Given the description of an element on the screen output the (x, y) to click on. 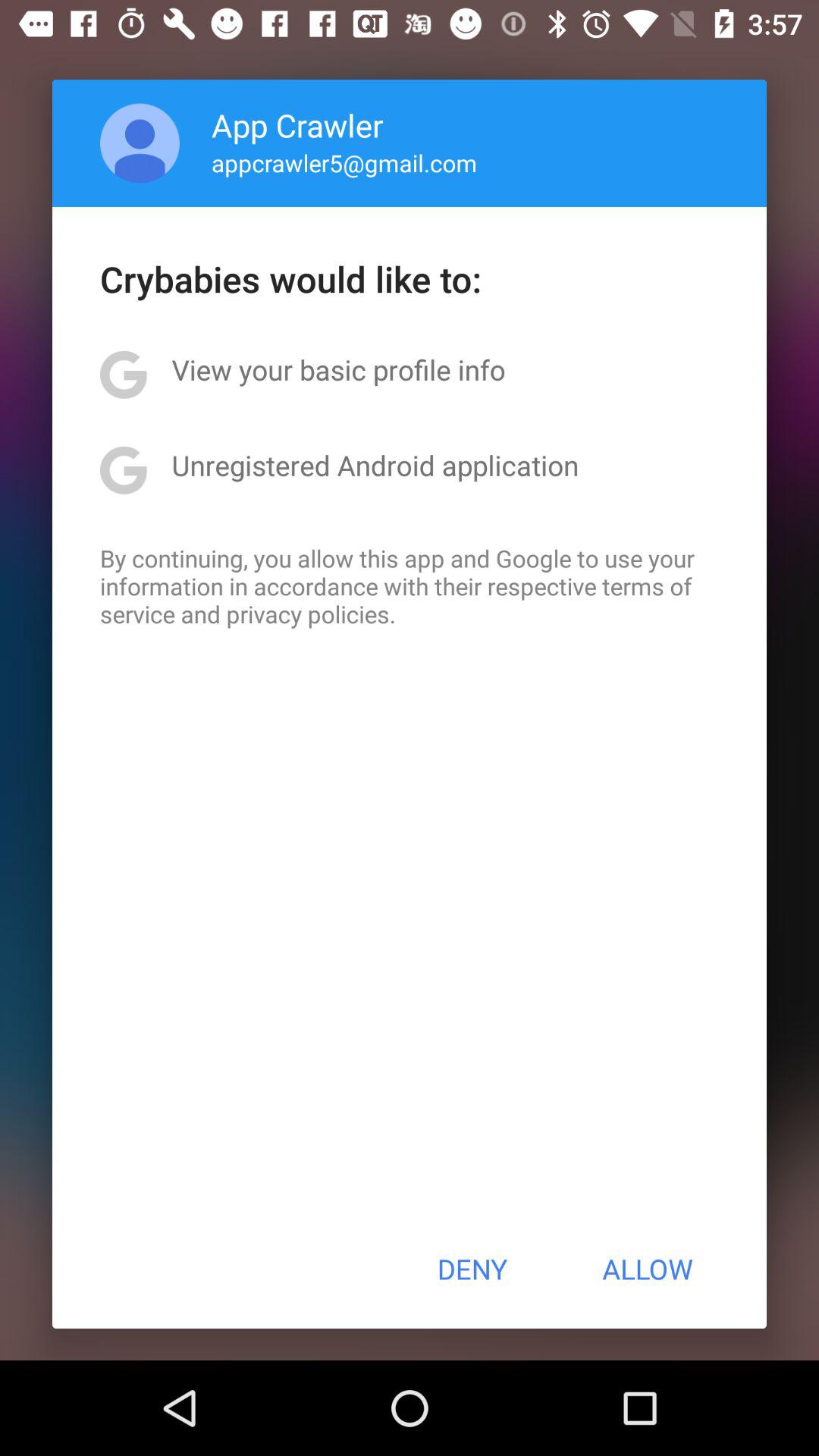
scroll until unregistered android application item (374, 465)
